Given the description of an element on the screen output the (x, y) to click on. 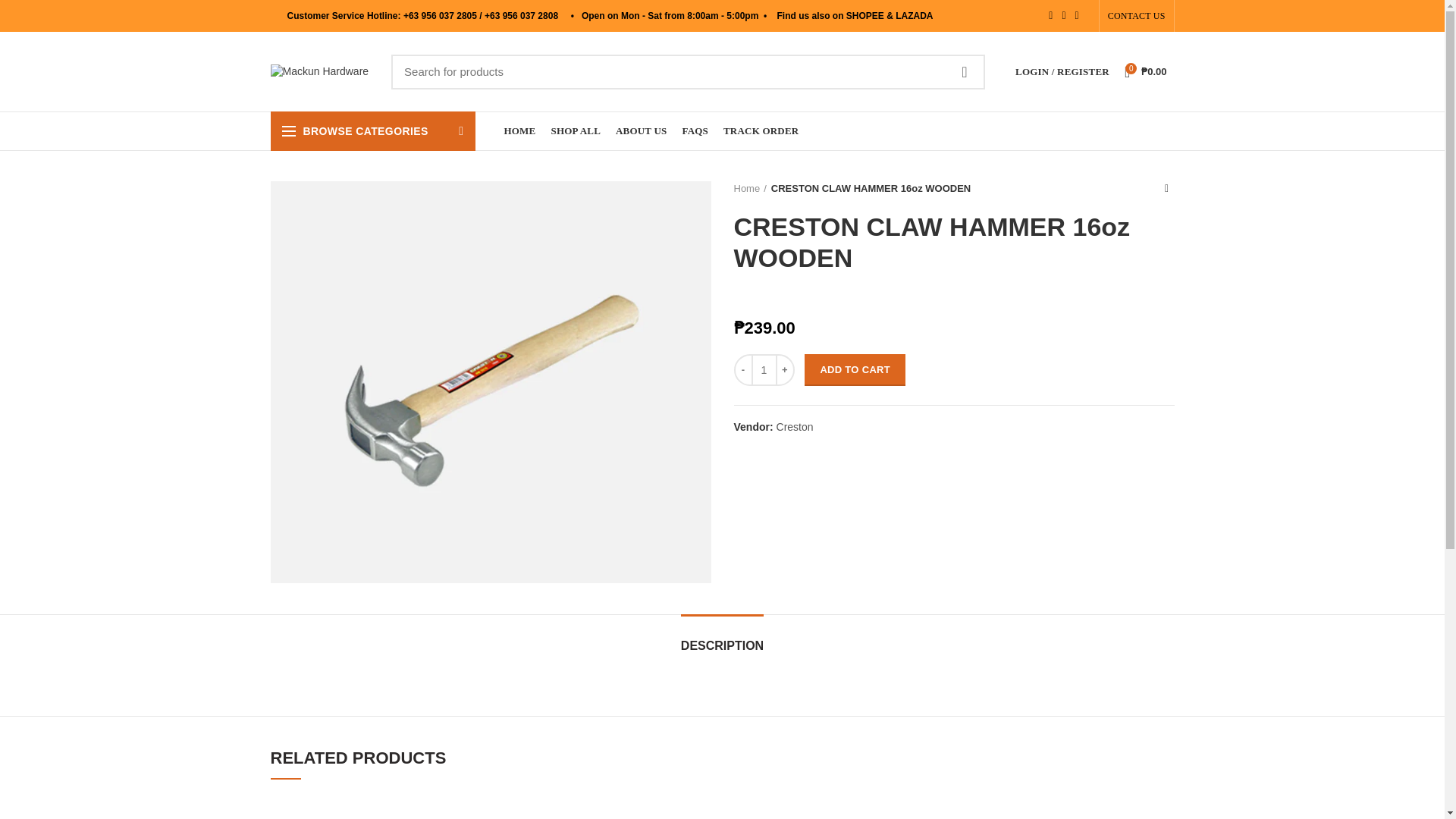
SEARCH (964, 71)
Back to the frontpage (750, 188)
CONTACT US (1136, 15)
